Given the description of an element on the screen output the (x, y) to click on. 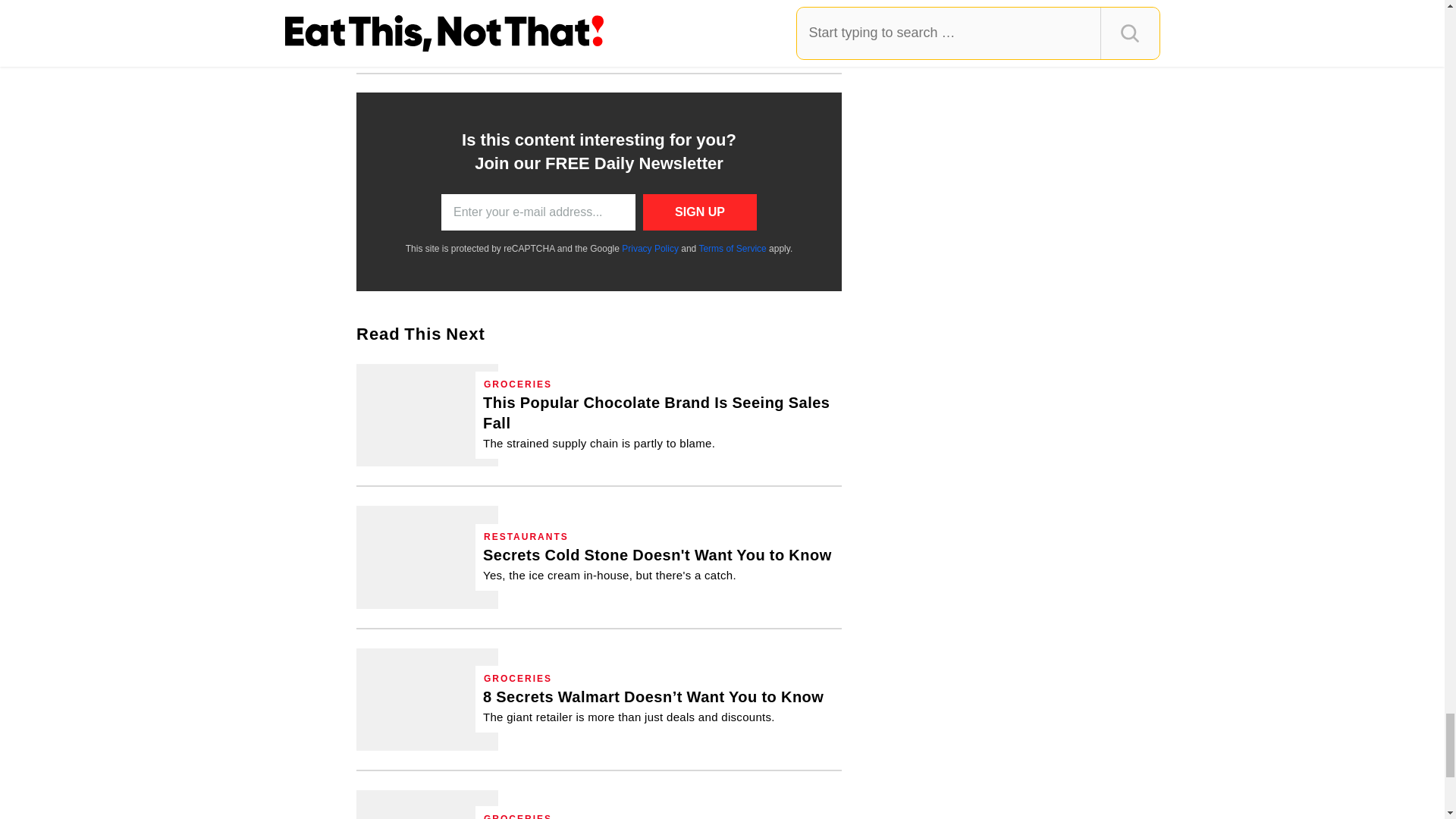
13 Secrets Cold Stone Doesn't Want You to Know (657, 564)
8 Secrets Walmart Doesn't Want You to Know (426, 699)
8 Secrets Walmart Doesn't Want You to Know (653, 705)
This Popular Chocolate Brand Is Seeing Sales Fall (426, 414)
13 Secrets Cold Stone Doesn't Want You to Know (426, 557)
This Popular Chocolate Brand Is Seeing Sales Fall (658, 422)
The 10 Best Breakfast Foods at Sam's Club Right Now (426, 804)
